Given the description of an element on the screen output the (x, y) to click on. 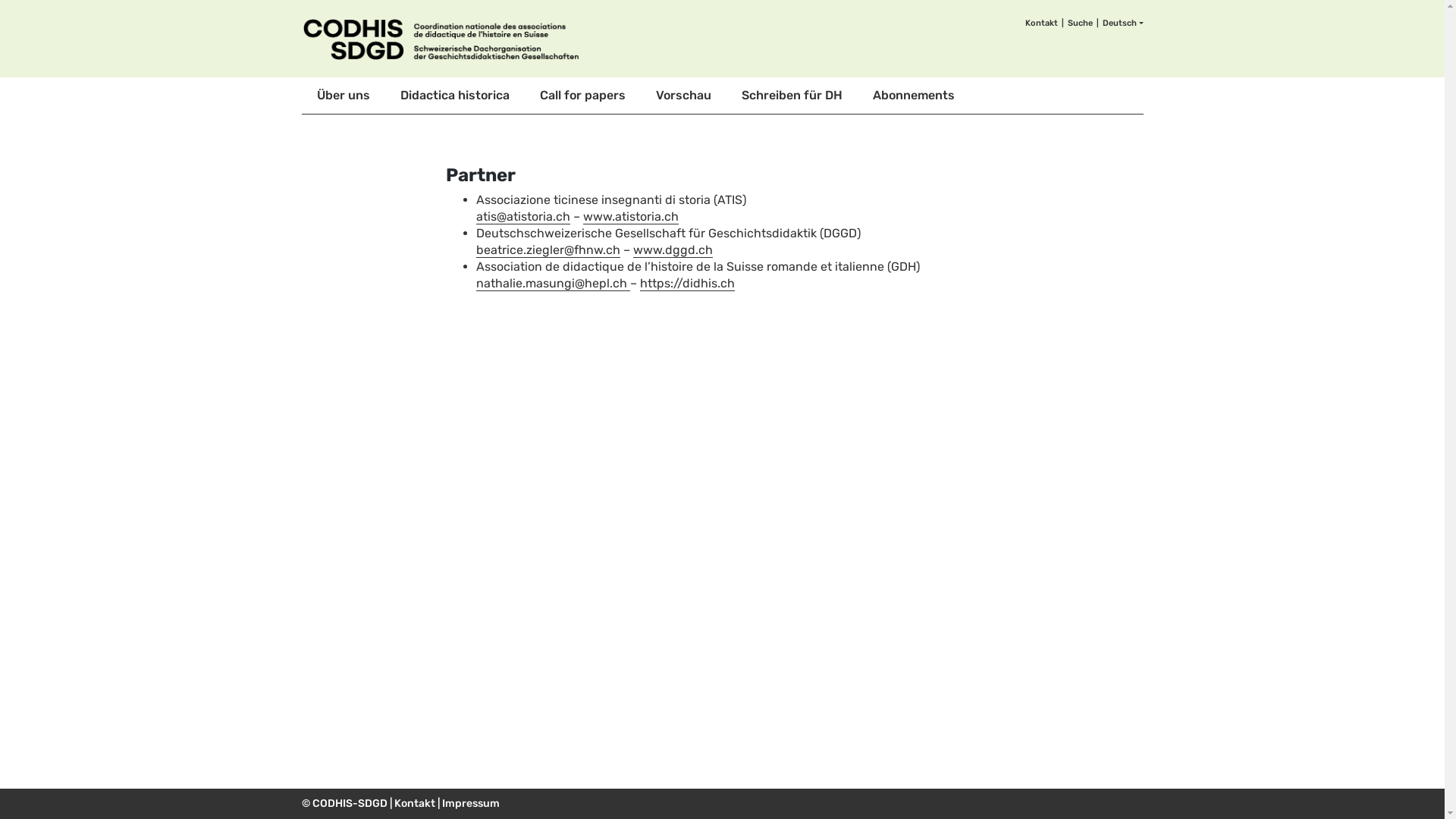
Call for papers Element type: text (582, 95)
Deutsch Element type: text (1122, 23)
Vorschau Element type: text (682, 95)
Kontakt Element type: text (1046, 23)
beatrice.ziegler@fhnw.ch Element type: text (548, 249)
Kontakt Element type: text (414, 803)
nathalie.masungi@hepl.ch  Element type: text (553, 283)
https://didhis.ch Element type: text (687, 283)
www.dggd.ch Element type: text (672, 249)
Didactica historica Element type: text (454, 95)
Impressum Element type: text (469, 803)
Abonnements Element type: text (912, 95)
www.atistoria.ch Element type: text (629, 216)
atis@atistoria.ch Element type: text (523, 216)
Suche Element type: text (1084, 23)
